Given the description of an element on the screen output the (x, y) to click on. 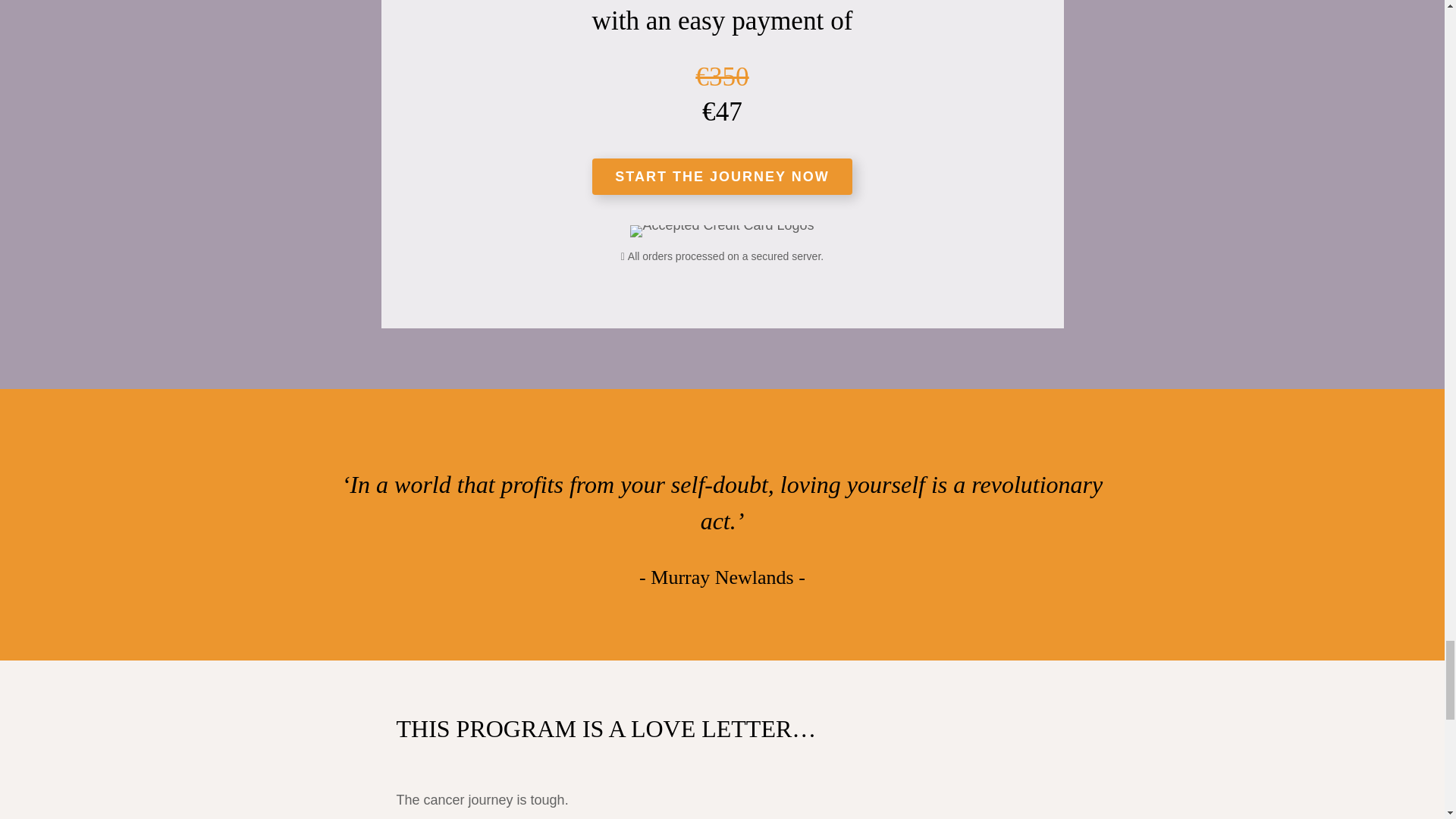
START THE JOURNEY NOW (721, 176)
Stripe-Accepted-CCs (721, 231)
